Given the description of an element on the screen output the (x, y) to click on. 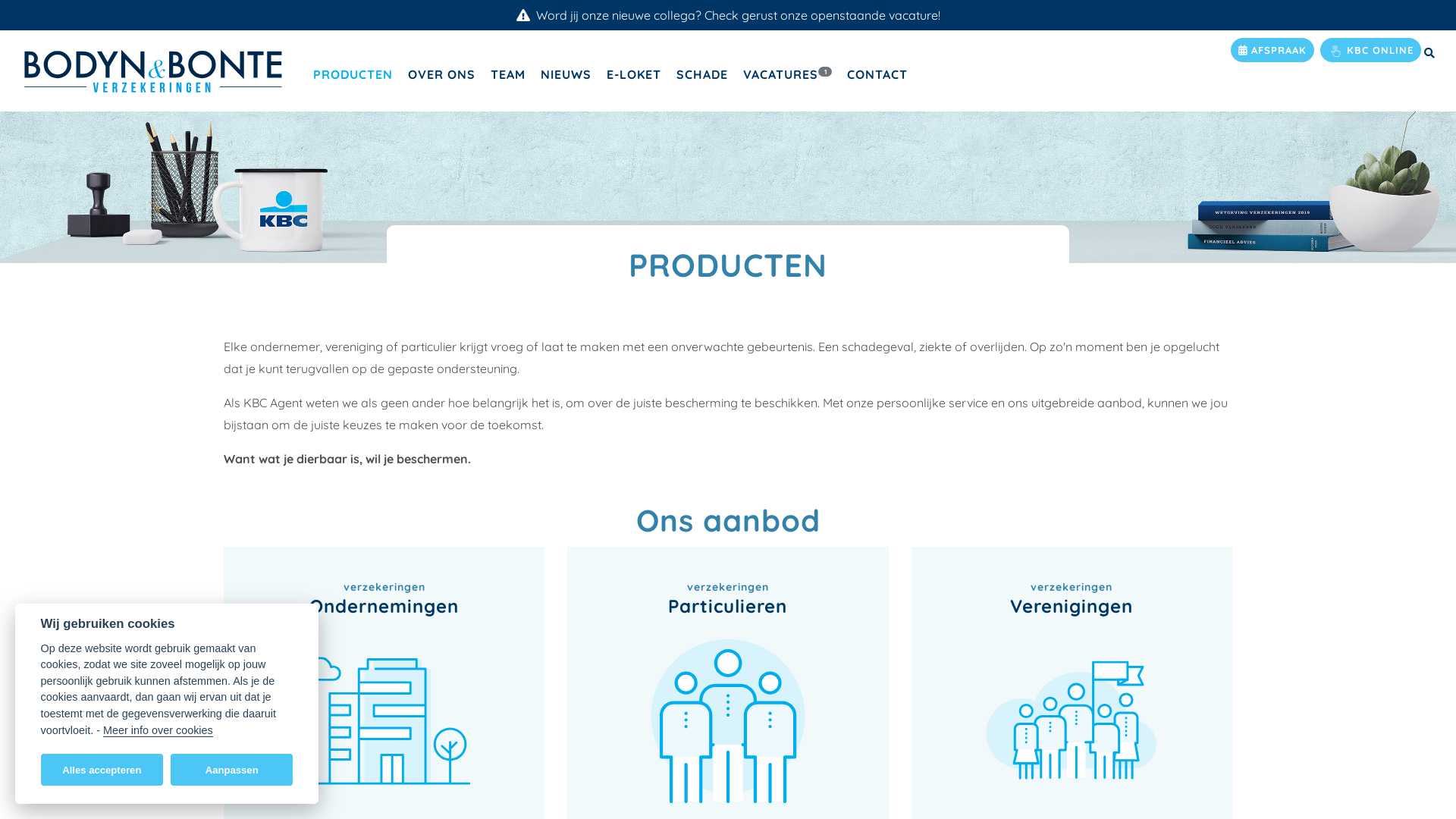
Particulieren Element type: text (727, 669)
CONTACT Element type: text (877, 74)
E-LOKET Element type: text (633, 74)
VACATURES1 Element type: text (787, 74)
Alles accepteren Element type: text (101, 769)
Aanpassen Element type: text (231, 769)
SCHADE Element type: text (701, 74)
OVER ONS Element type: text (441, 74)
TEAM Element type: text (508, 74)
Ondernemingen Element type: text (384, 669)
 KBC ONLINE Element type: text (1370, 49)
Meer info over cookies Element type: text (158, 729)
PRODUCTEN Element type: text (352, 74)
AFSPRAAK Element type: text (1272, 49)
Verenigingen Element type: text (1071, 669)
NIEUWS Element type: text (566, 74)
